Given the description of an element on the screen output the (x, y) to click on. 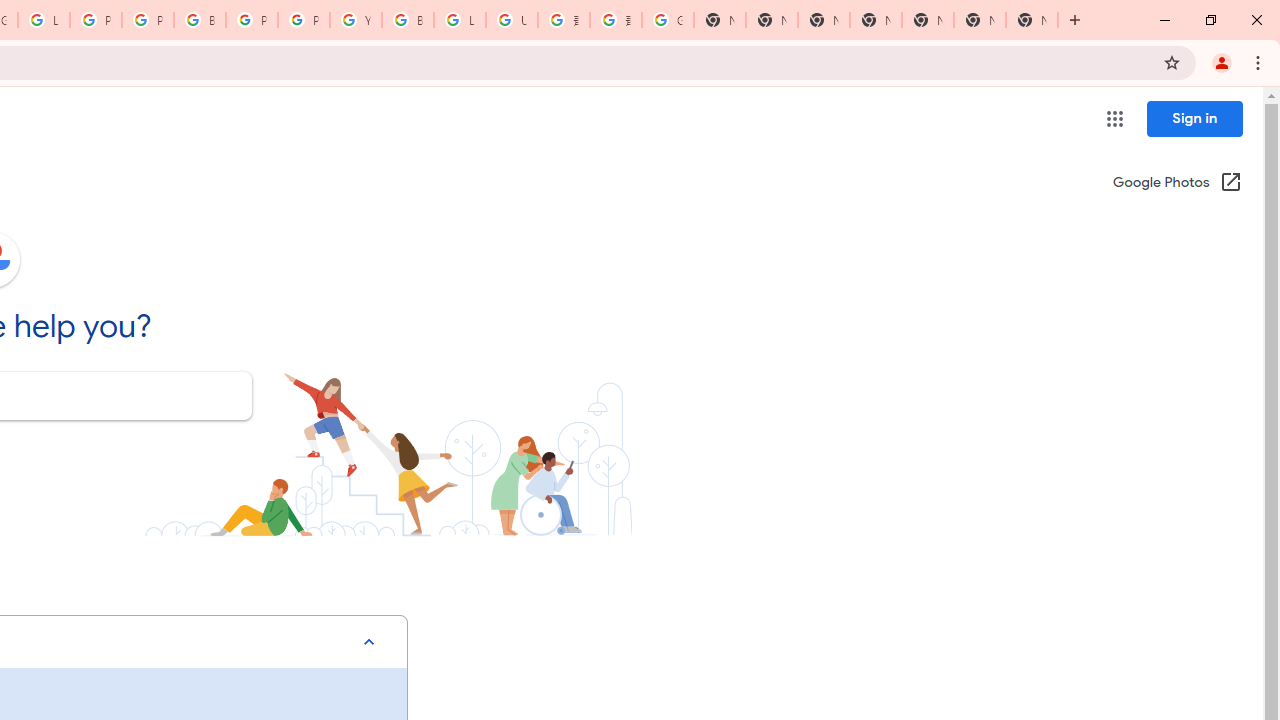
New Tab (1032, 20)
Privacy Help Center - Policies Help (147, 20)
New Tab (875, 20)
